Given the description of an element on the screen output the (x, y) to click on. 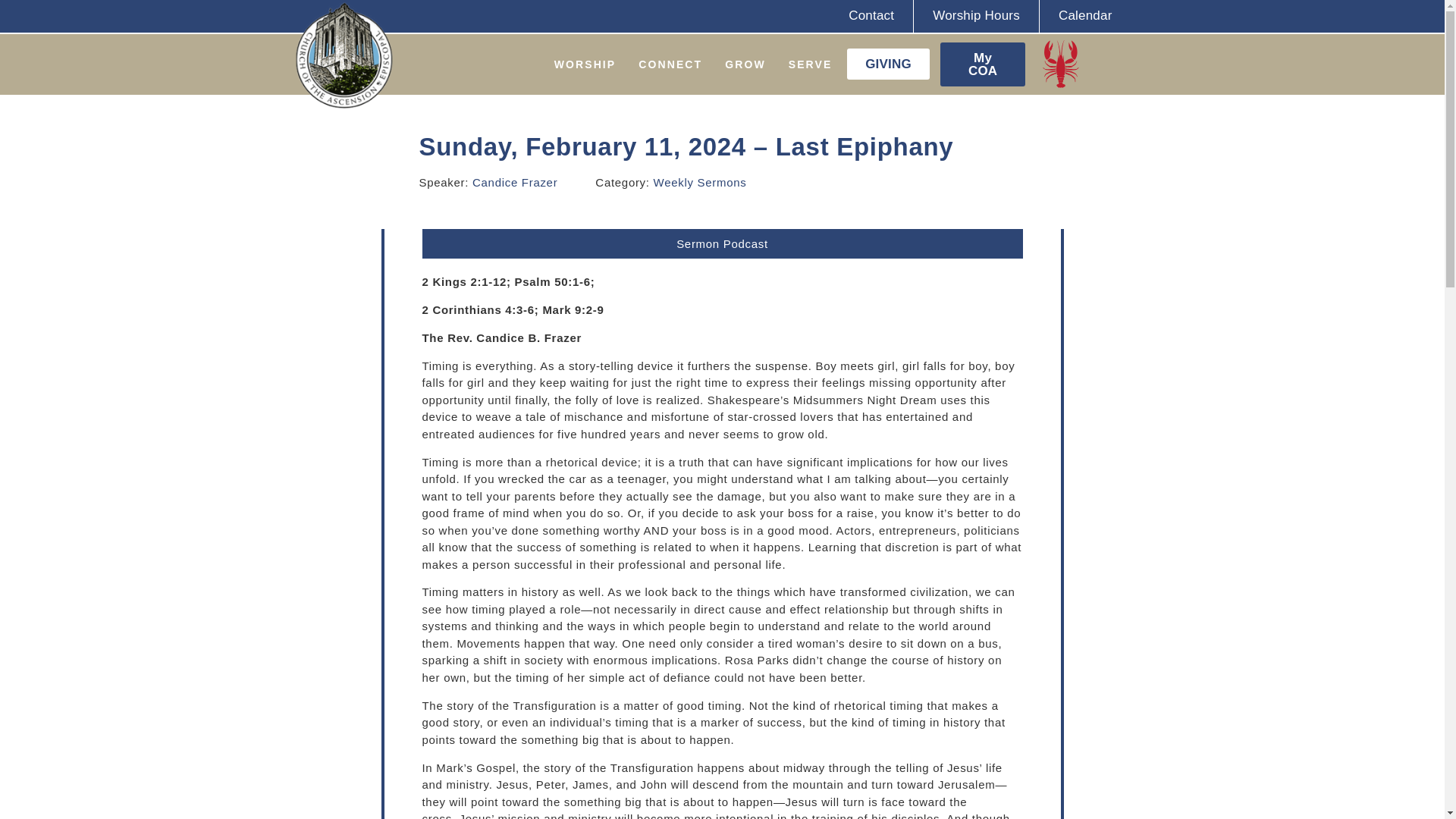
GROW (745, 63)
Worship Hours (976, 15)
CONNECT (670, 63)
SERVE (810, 63)
WORSHIP (585, 63)
Calendar (1085, 15)
Contact (870, 15)
